Given the description of an element on the screen output the (x, y) to click on. 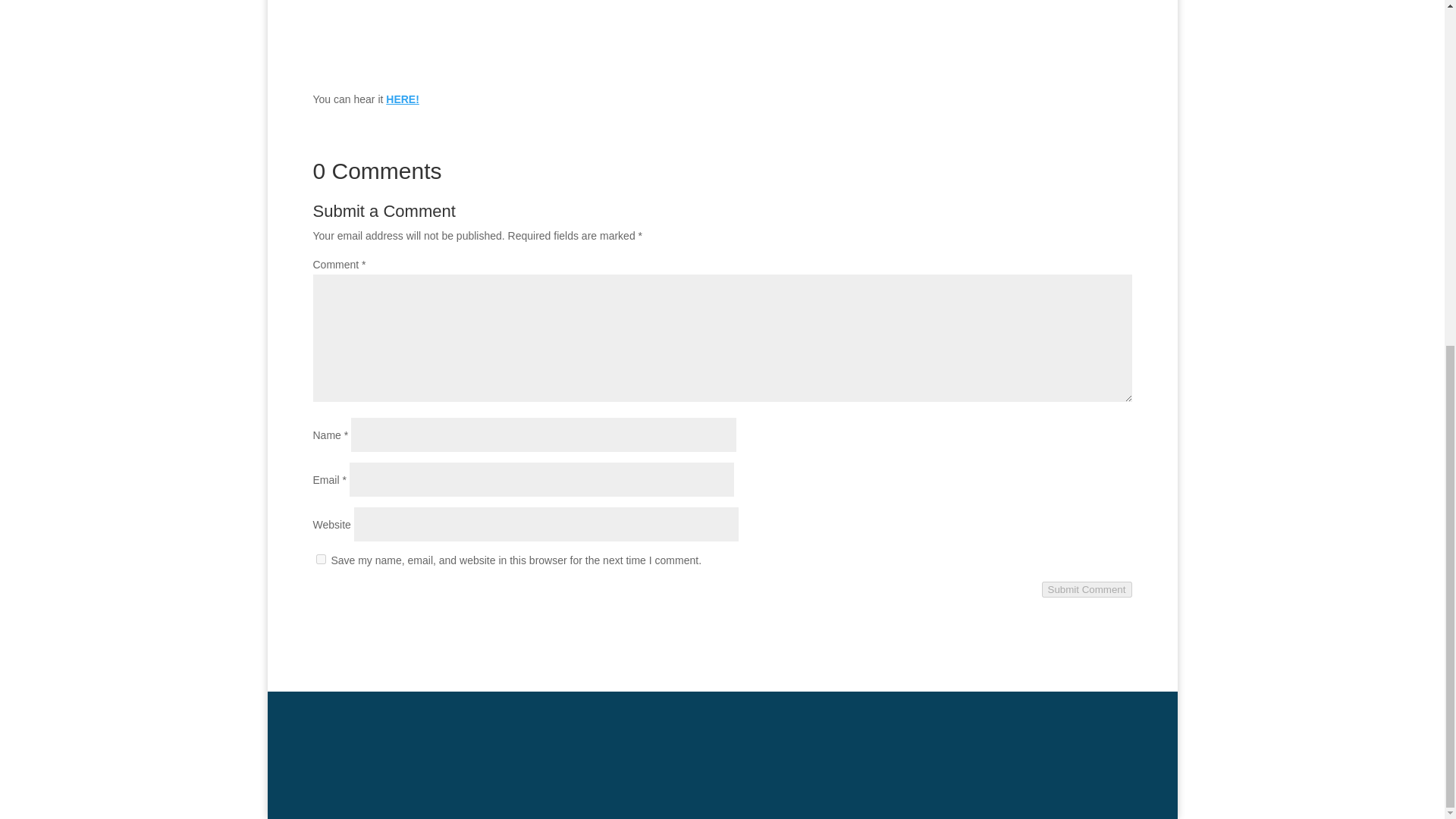
Submit Comment (1087, 589)
HERE! (402, 99)
yes (319, 559)
